Given the description of an element on the screen output the (x, y) to click on. 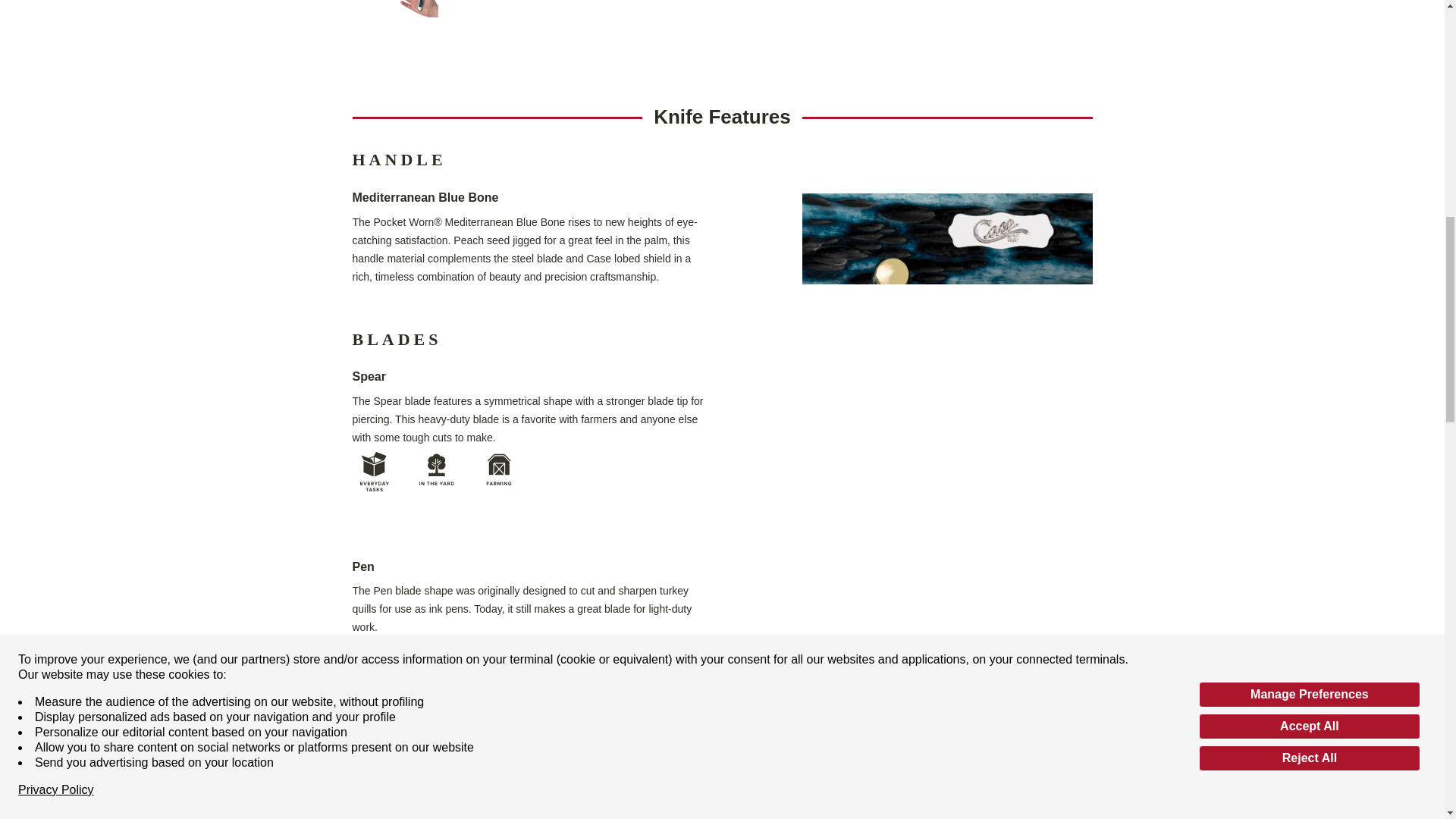
51853 (598, 817)
